Given the description of an element on the screen output the (x, y) to click on. 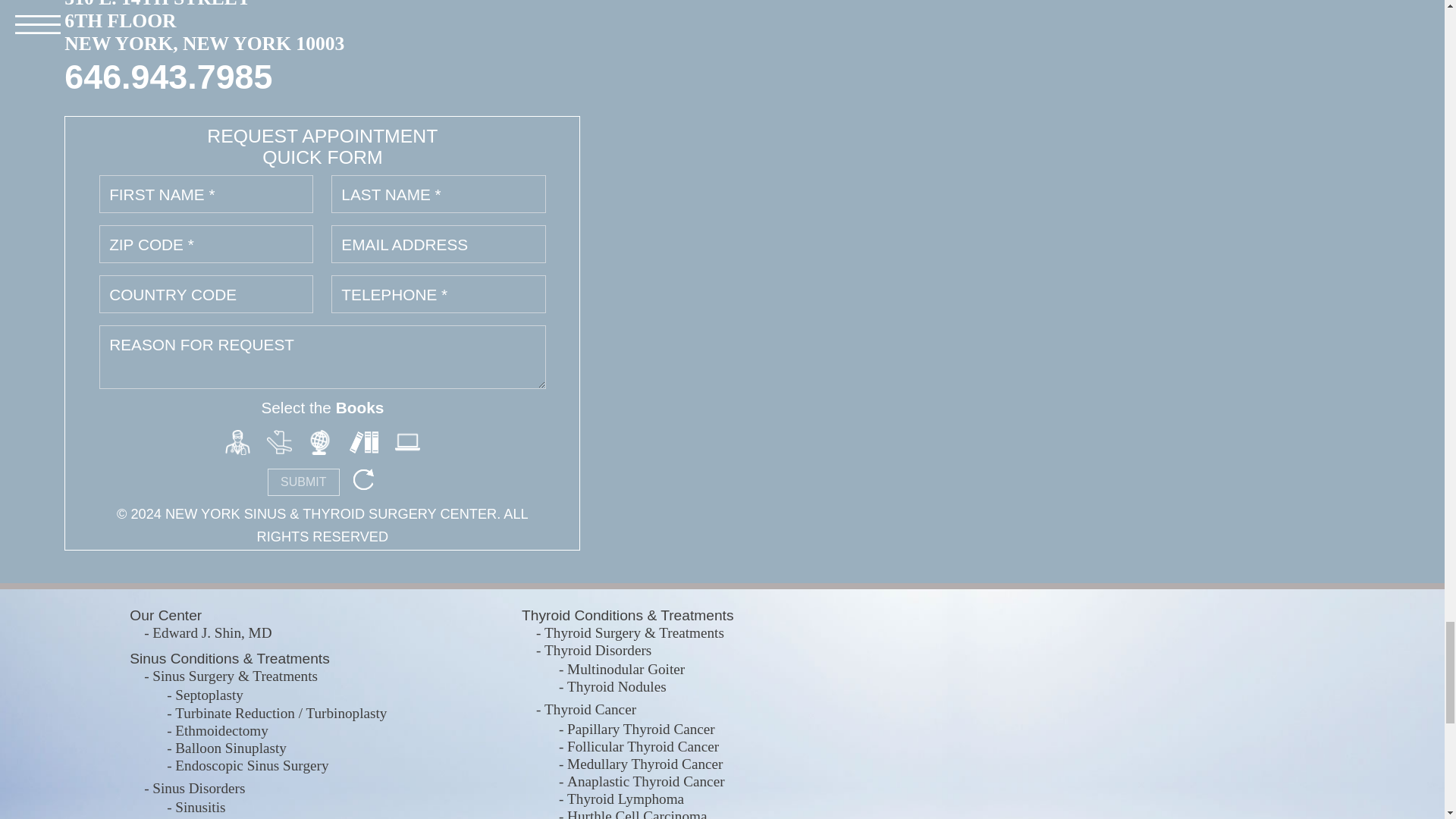
SUBMIT (303, 482)
Refresh (363, 479)
Captcha (363, 440)
